Given the description of an element on the screen output the (x, y) to click on. 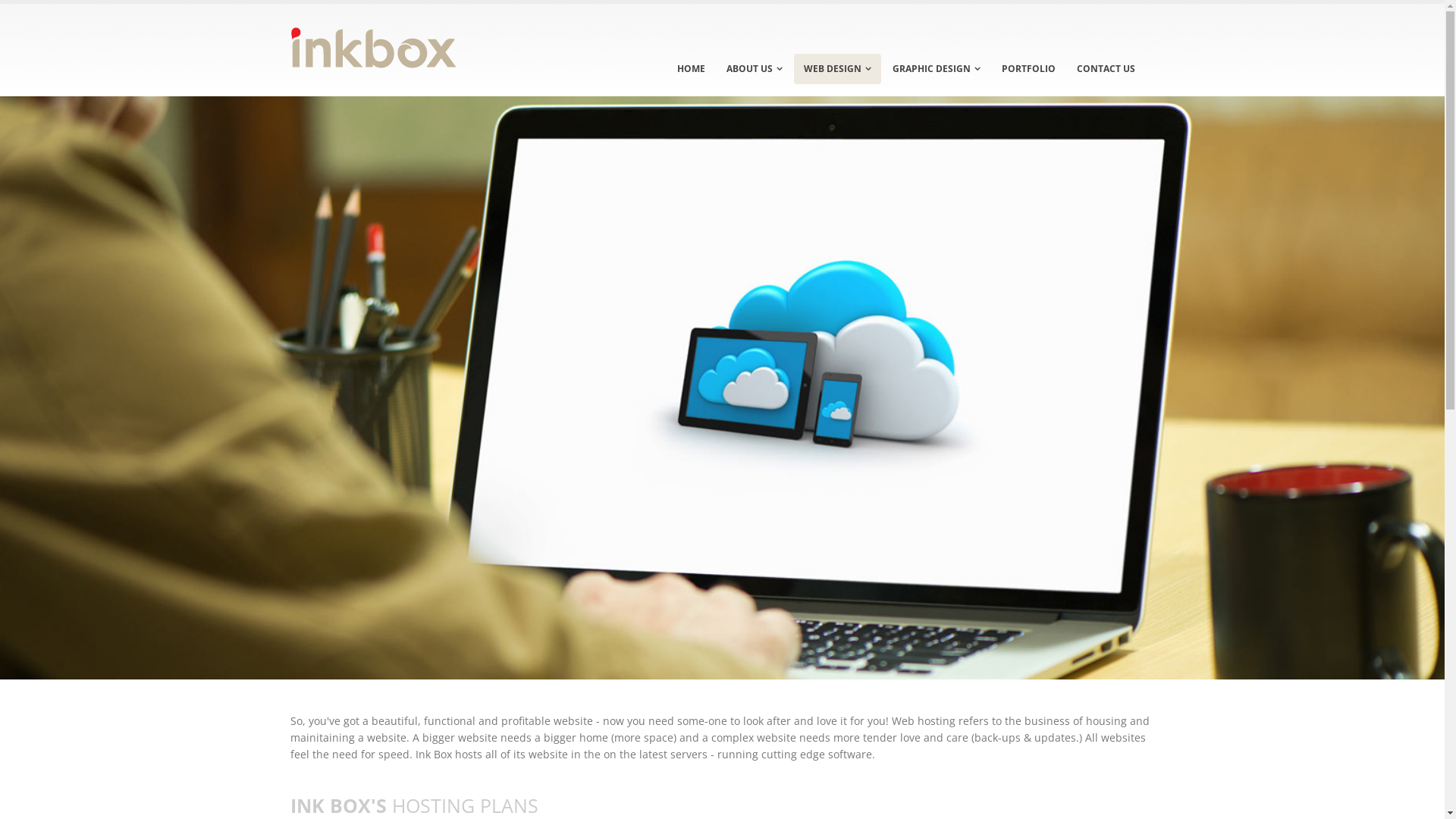
GRAPHIC DESIGN Element type: text (936, 68)
Home Element type: hover (372, 43)
PORTFOLIO Element type: text (1028, 68)
ABOUT US Element type: text (753, 68)
CONTACT US Element type: text (1105, 68)
WEB DESIGN Element type: text (836, 68)
HOME Element type: text (691, 68)
